Given the description of an element on the screen output the (x, y) to click on. 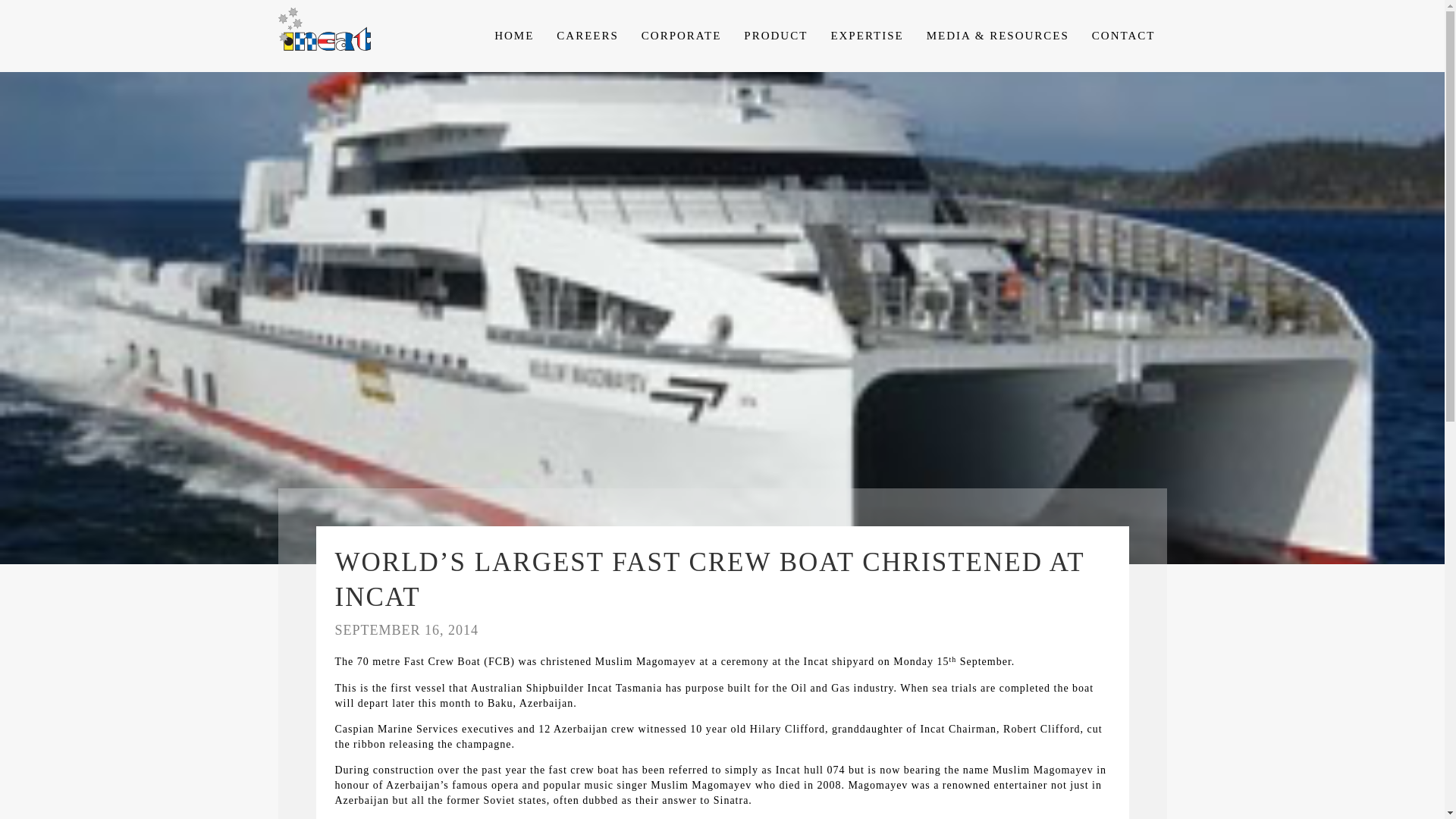
PRODUCT (775, 36)
CAREERS (587, 36)
CORPORATE (681, 36)
